Given the description of an element on the screen output the (x, y) to click on. 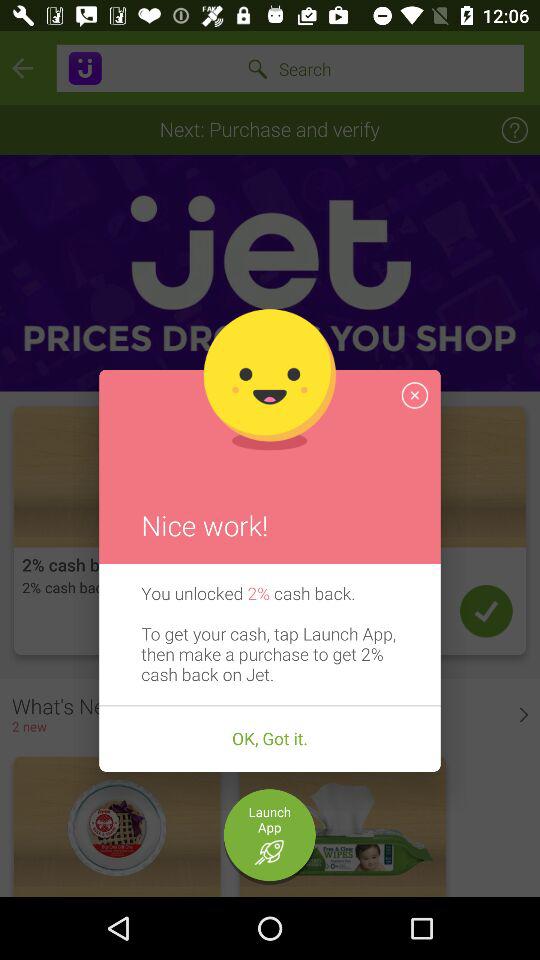
click the item above you unlocked 2 (414, 395)
